Given the description of an element on the screen output the (x, y) to click on. 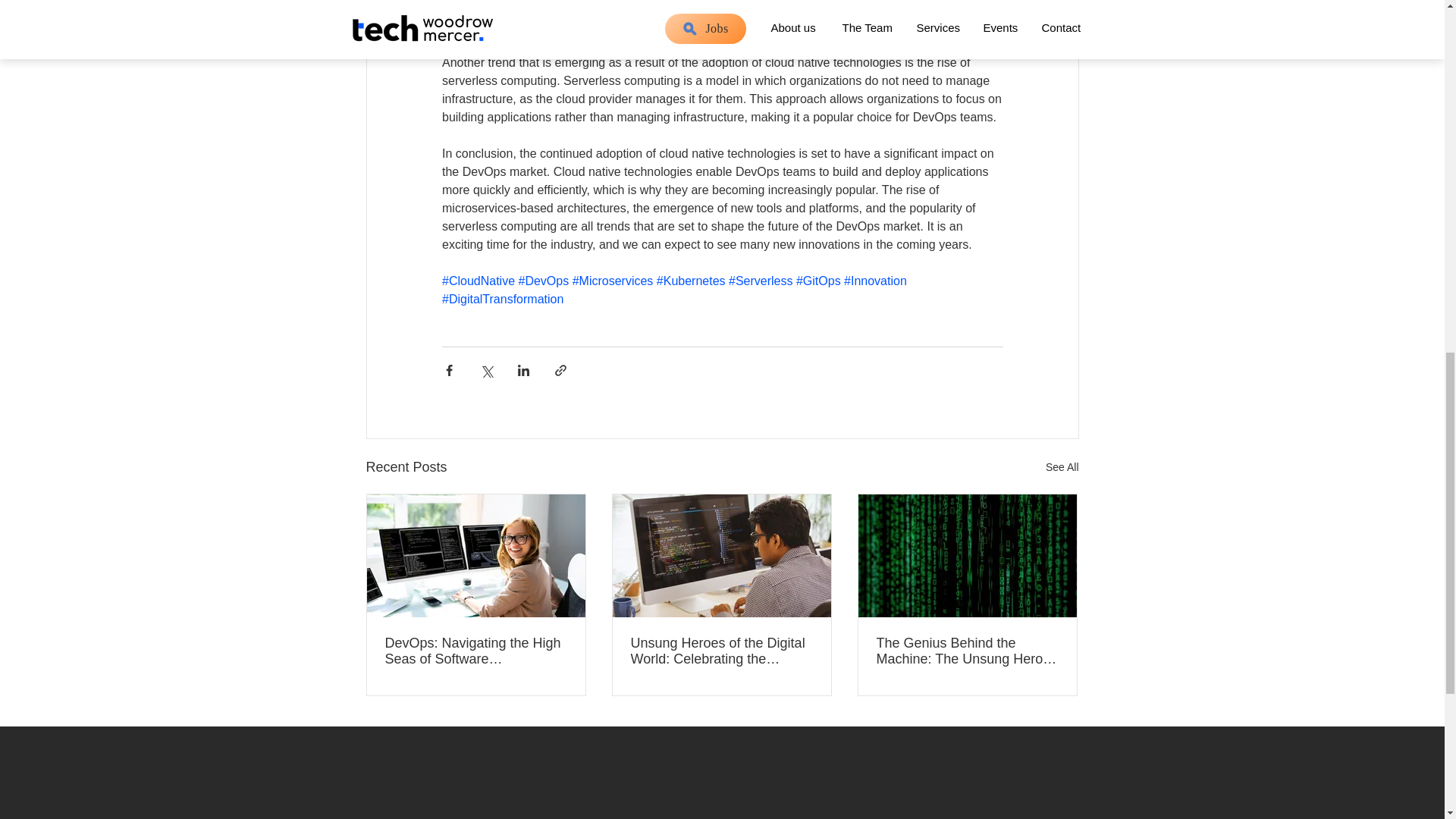
See All (1061, 467)
